Given the description of an element on the screen output the (x, y) to click on. 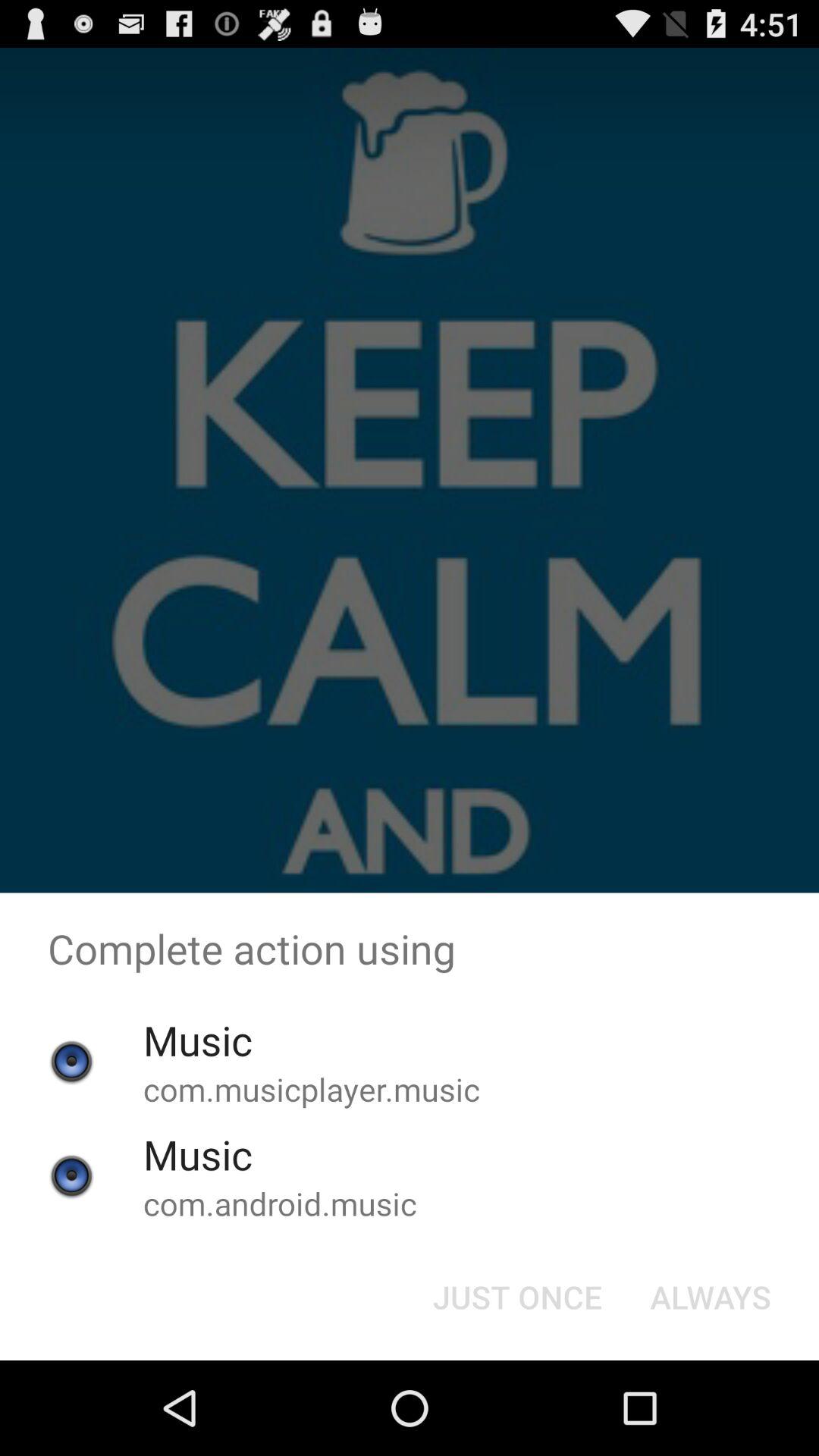
choose app below complete action using (710, 1296)
